Given the description of an element on the screen output the (x, y) to click on. 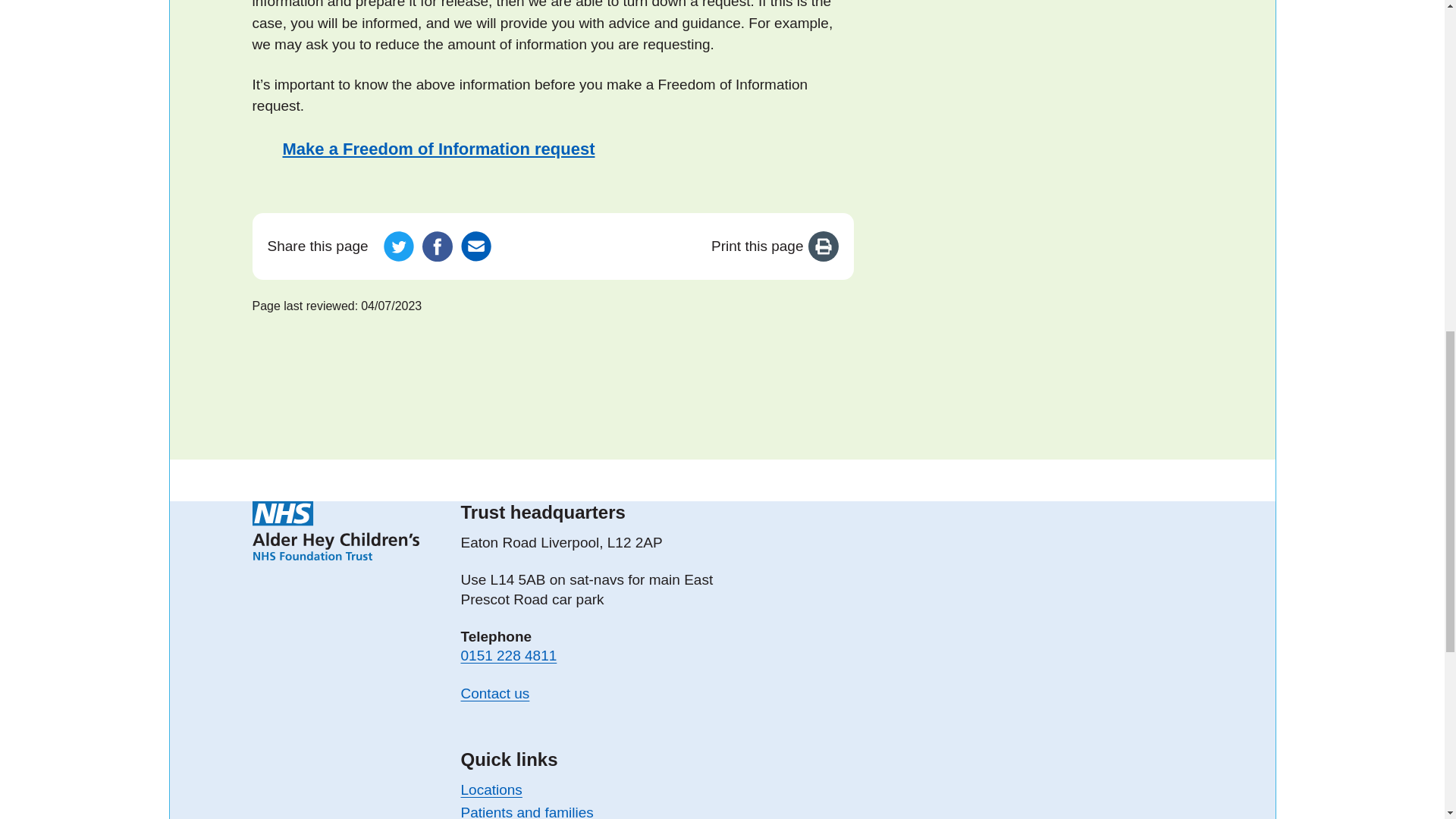
Share on Facebook (437, 245)
Share via Email (476, 245)
Share on Twitter (398, 245)
